Given the description of an element on the screen output the (x, y) to click on. 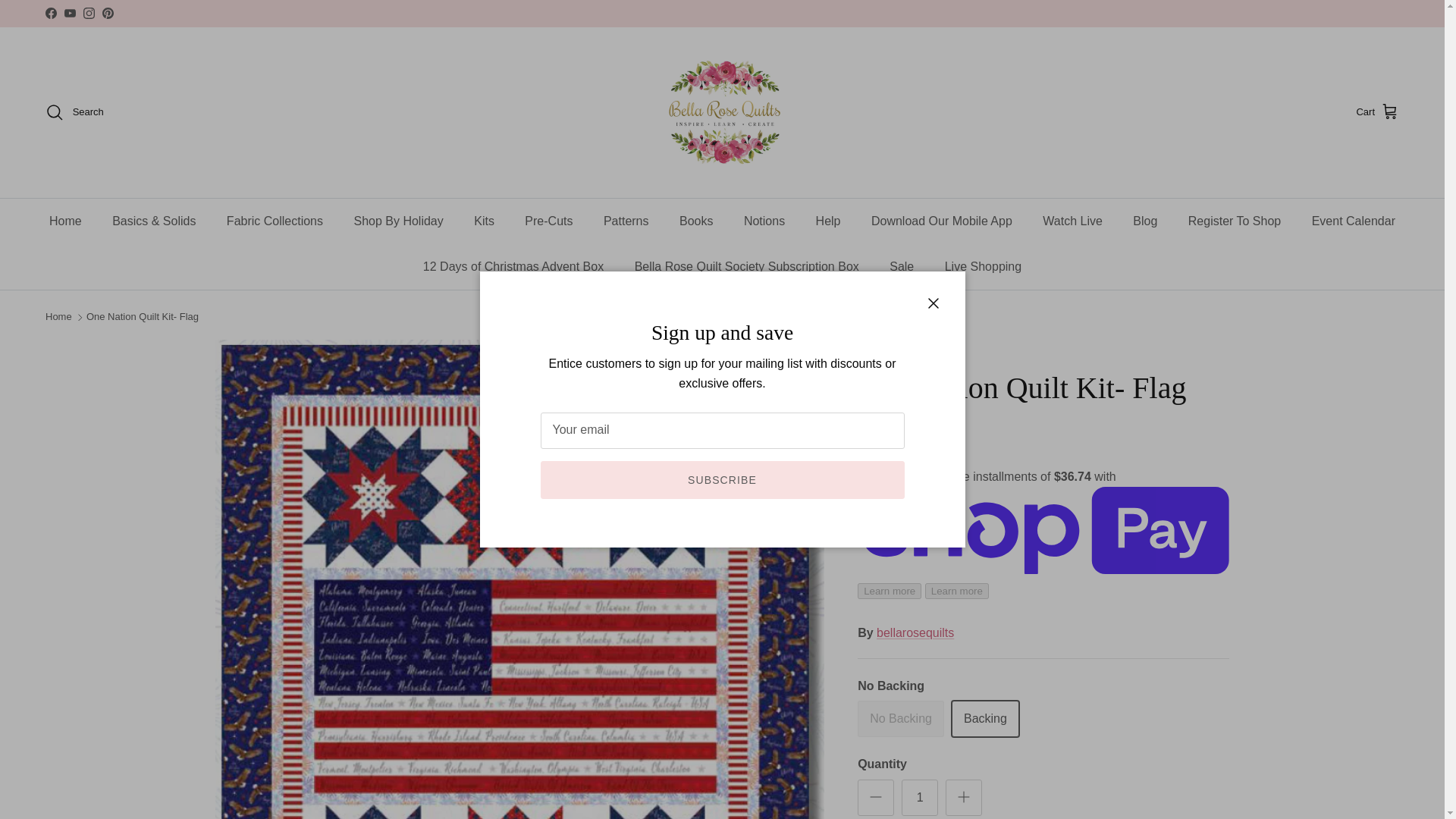
bellarosequilts on Pinterest (107, 12)
Facebook (50, 12)
1 (919, 797)
Home (65, 221)
Sold out (900, 719)
bellarosequilts on Instagram (88, 12)
Search (74, 112)
Instagram (88, 12)
Cart (1377, 112)
Fabric Collections (274, 221)
bellarosequilts (722, 112)
bellarosequilts on Facebook (50, 12)
Pinterest (107, 12)
YouTube (69, 12)
bellarosequilts on YouTube (69, 12)
